Given the description of an element on the screen output the (x, y) to click on. 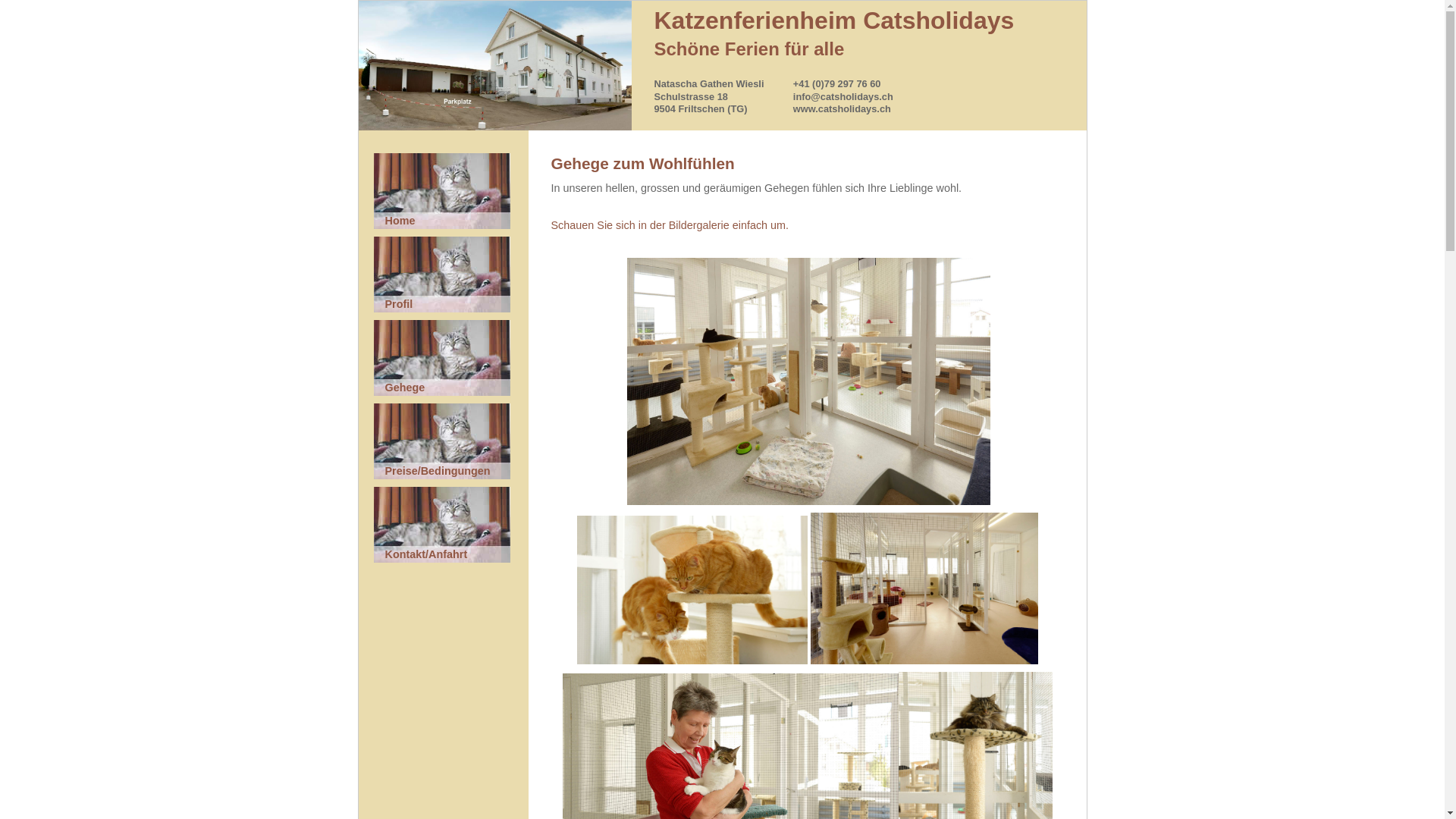
Gehege Element type: text (442, 359)
Home Element type: text (442, 192)
info@catsholidays.ch Element type: text (843, 96)
Profil Element type: text (442, 275)
www.catsholidays.ch Element type: text (842, 108)
Kontakt/Anfahrt Element type: text (442, 525)
Preise/Bedingungen Element type: text (442, 442)
